Given the description of an element on the screen output the (x, y) to click on. 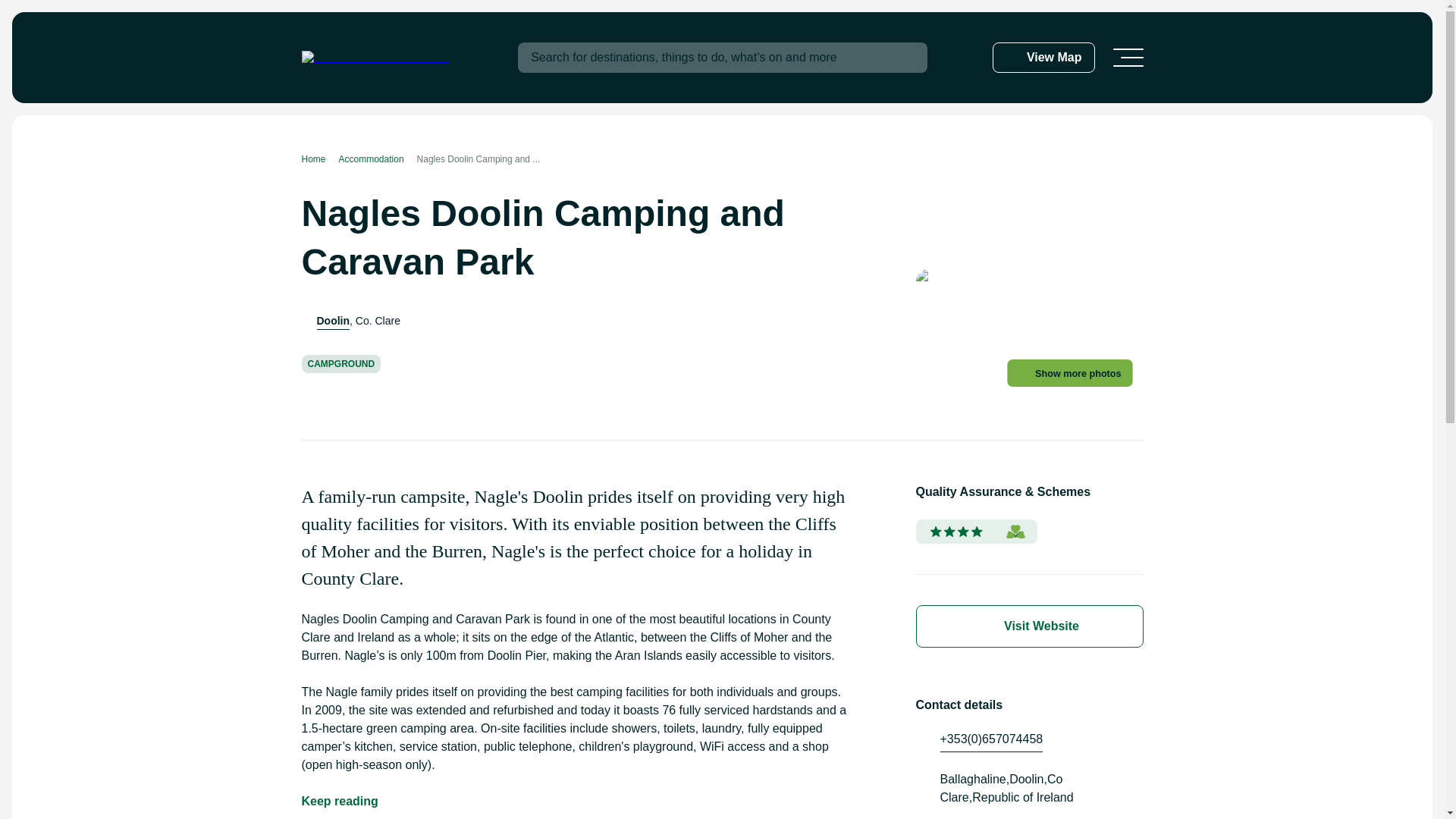
Accommodation (377, 158)
Show more photos (1077, 374)
Visit Website (1028, 626)
Home (320, 159)
CAMPGROUND (341, 363)
Doolin (333, 320)
View Map (1043, 57)
Keep reading (339, 801)
Click to go back to the homepage (374, 57)
